Given the description of an element on the screen output the (x, y) to click on. 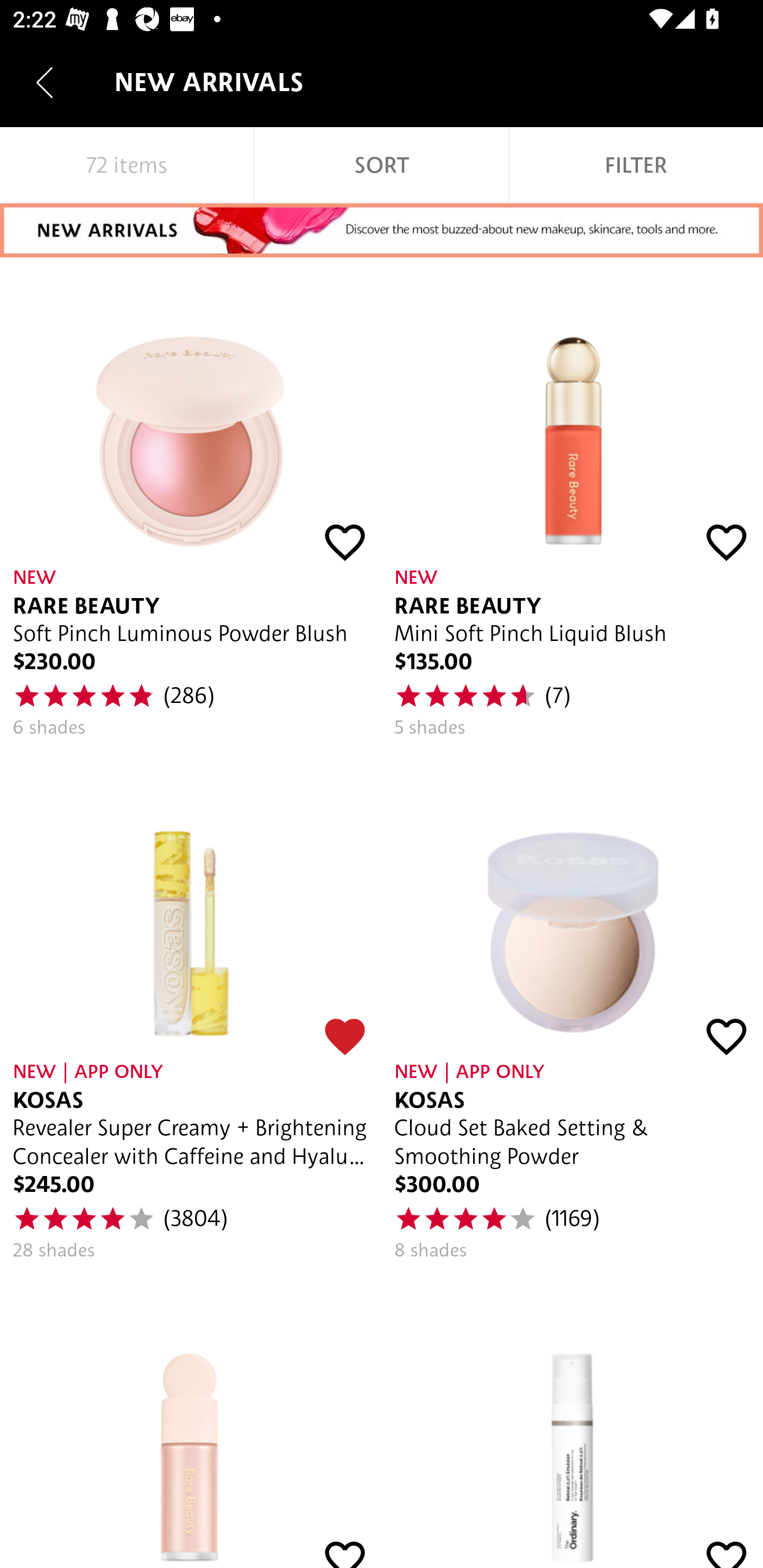
Navigate up (44, 82)
SORT (381, 165)
FILTER (636, 165)
